Given the description of an element on the screen output the (x, y) to click on. 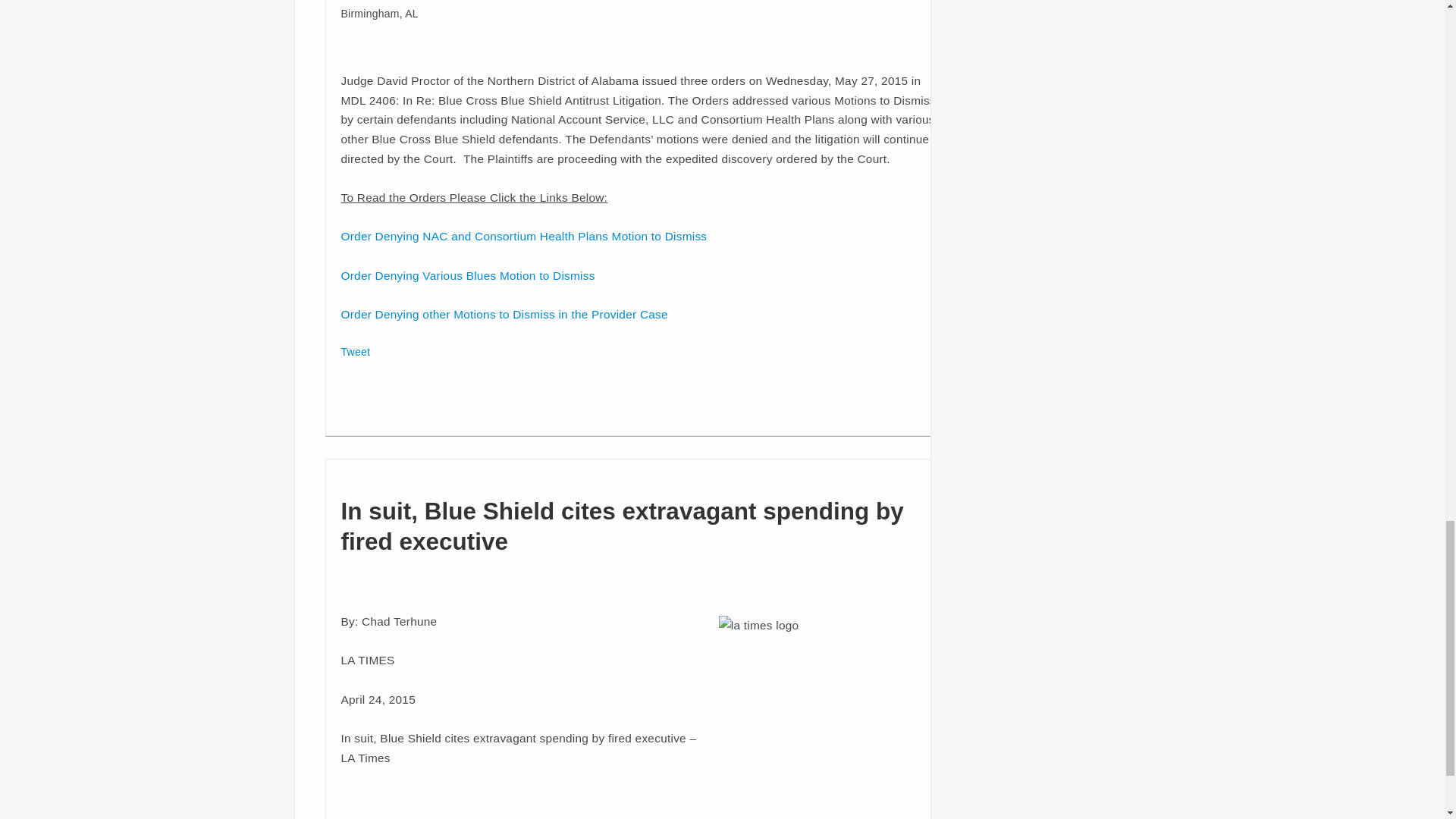
Order Denying Various Blues Motion to Dismiss (467, 275)
Order Denying other Motions to Dismiss in the Provider Case (504, 314)
Tweet (355, 351)
